Given the description of an element on the screen output the (x, y) to click on. 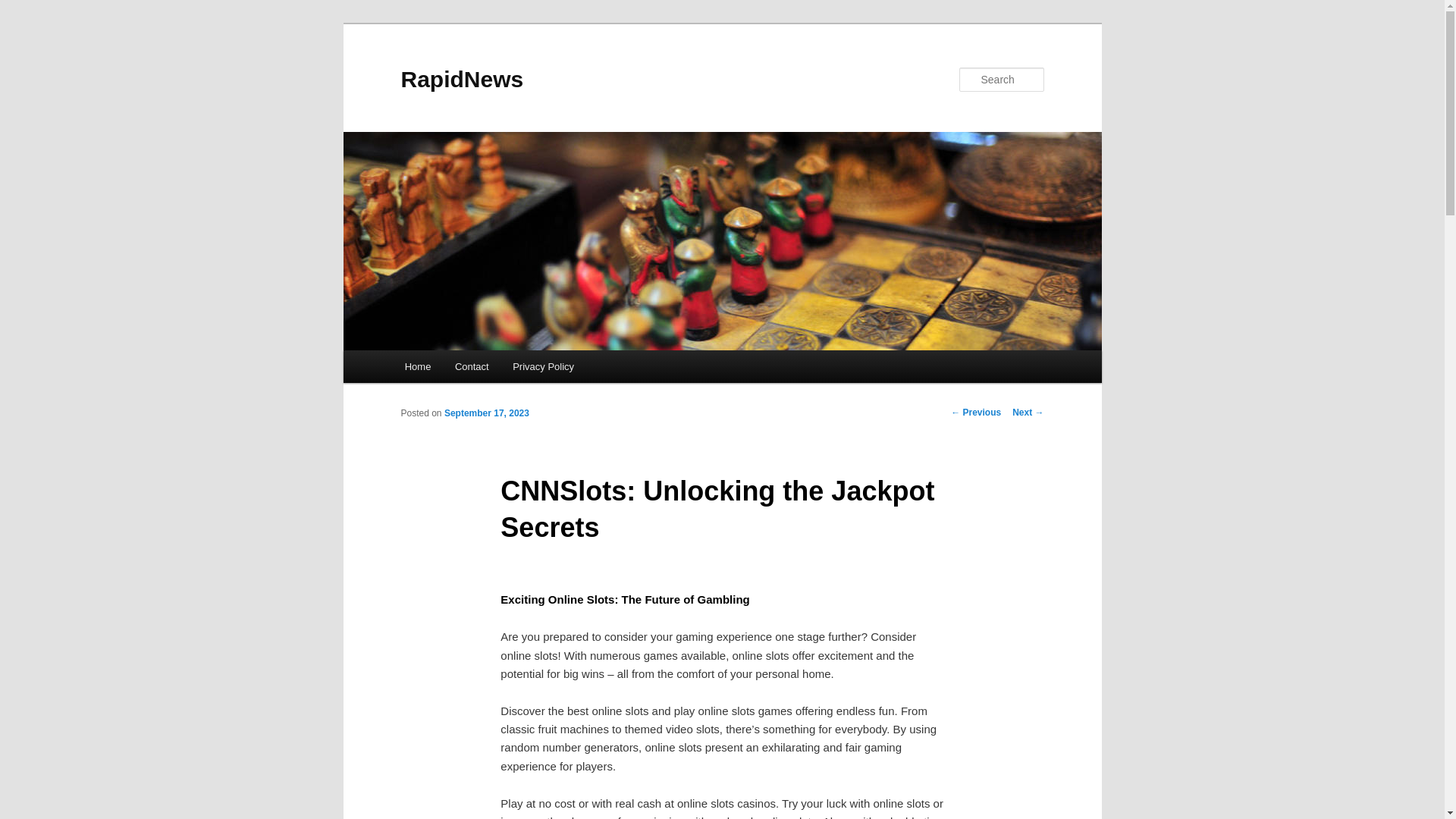
6:53 pm (486, 412)
Search (24, 8)
Contact (471, 366)
RapidNews (461, 78)
September 17, 2023 (486, 412)
Privacy Policy (542, 366)
Home (417, 366)
